Given the description of an element on the screen output the (x, y) to click on. 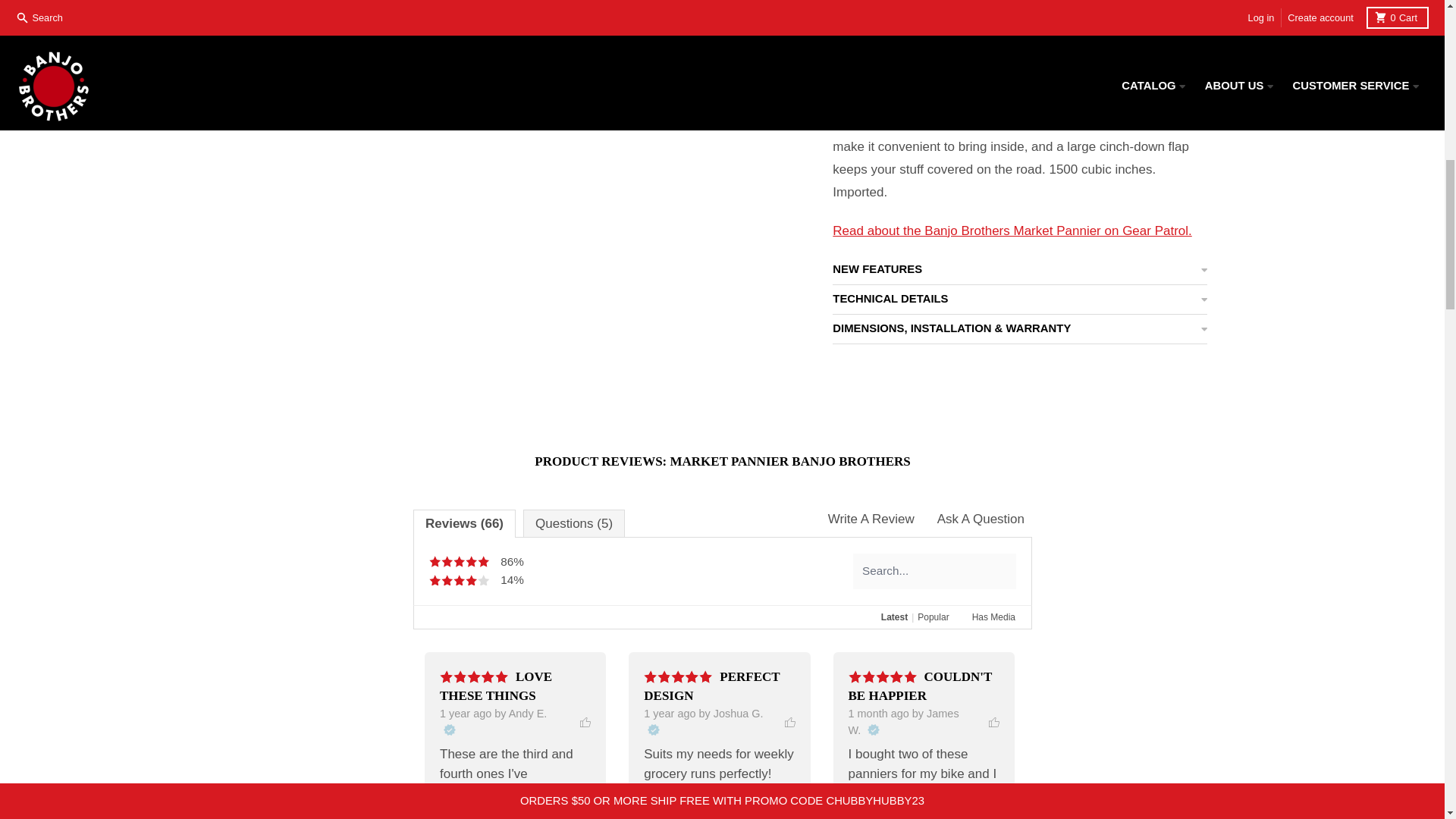
Verified review (873, 729)
Verified review (448, 729)
Verified review (653, 729)
